Given the description of an element on the screen output the (x, y) to click on. 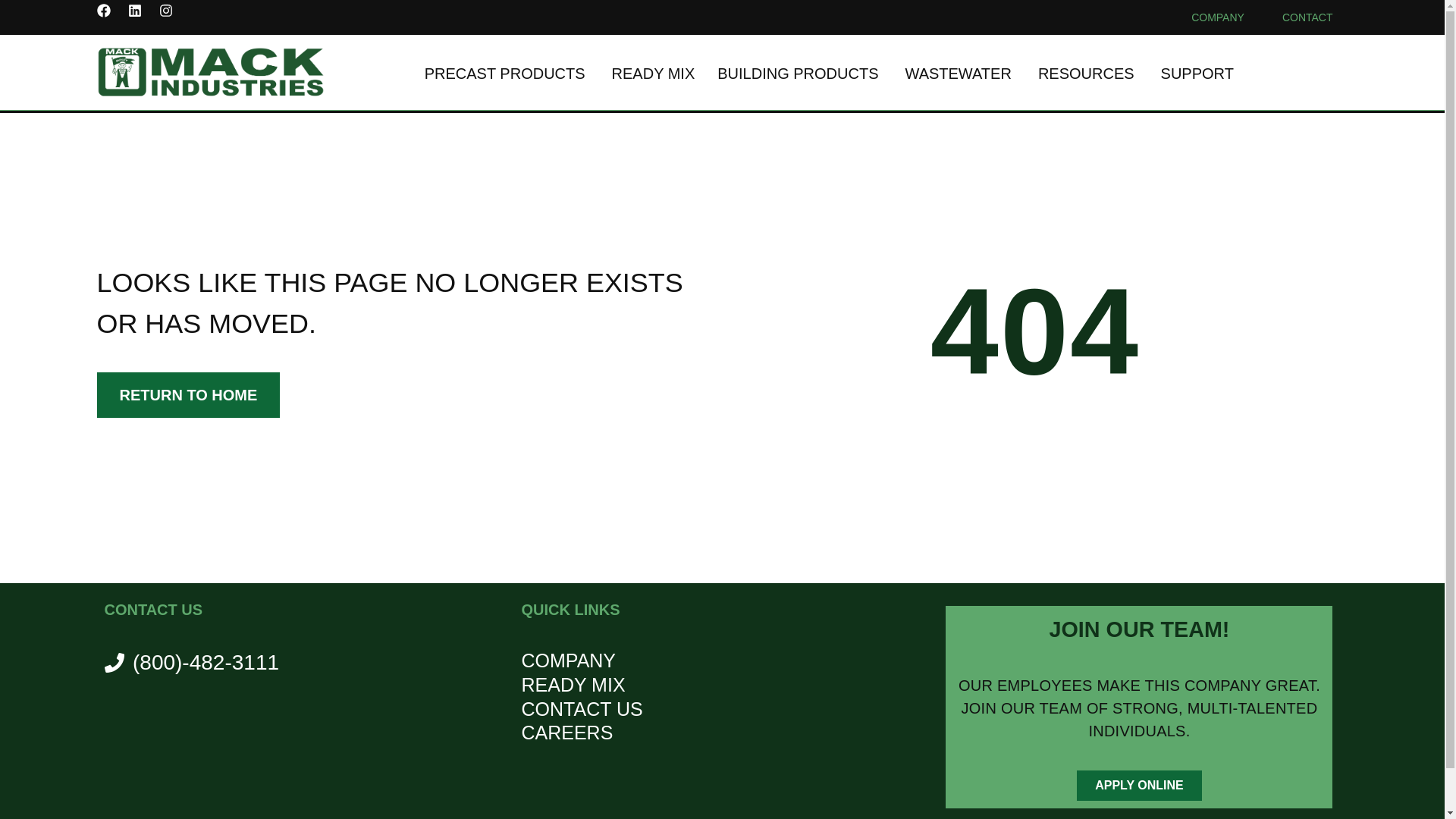
READY MIX (653, 73)
RESOURCES (1086, 73)
CONTACT (1307, 17)
COMPANY (1221, 17)
